Given the description of an element on the screen output the (x, y) to click on. 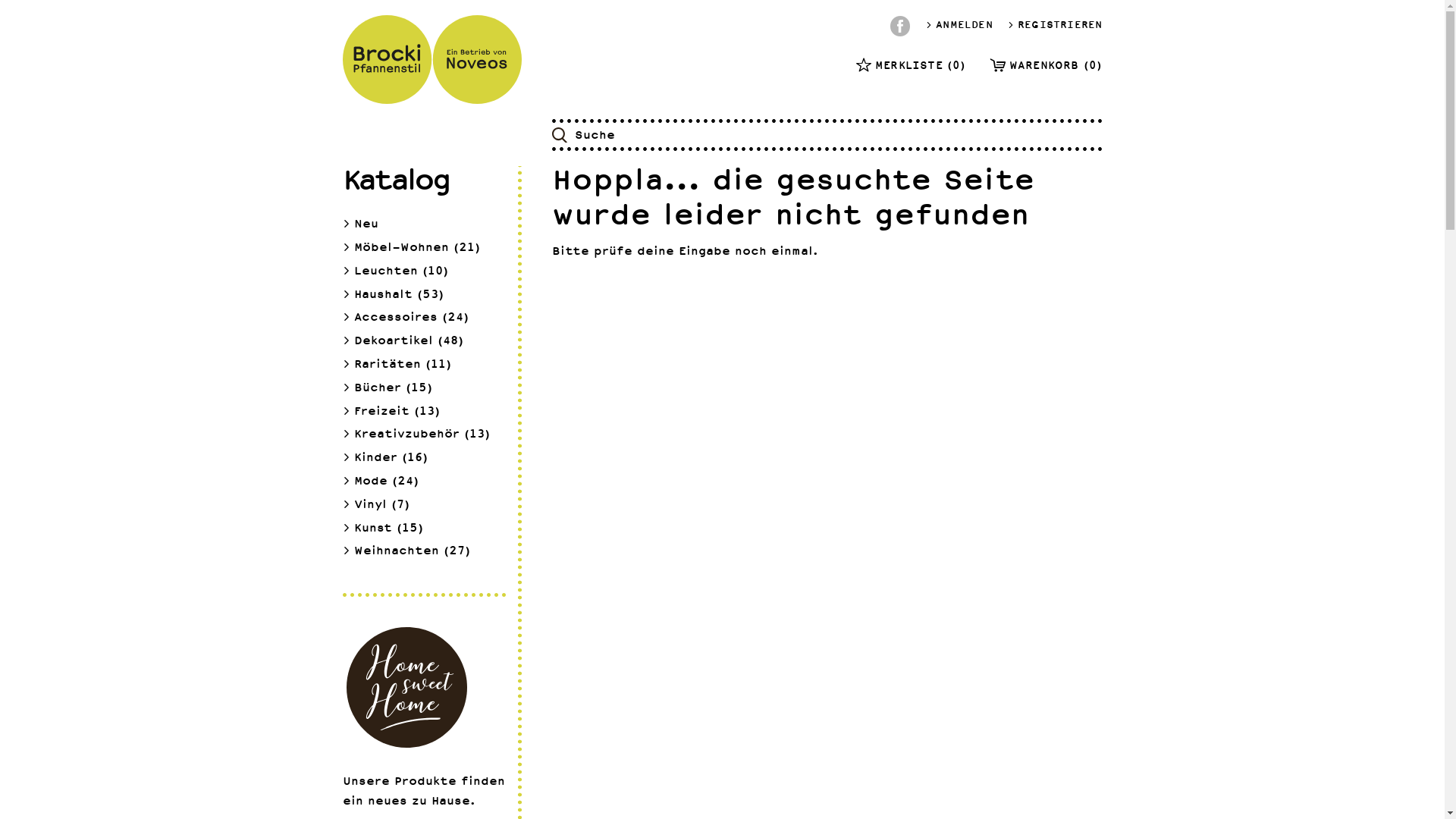
Haushalt (53) Element type: text (392, 294)
WARENKORB (0) Element type: text (1046, 65)
Mode (24) Element type: text (380, 480)
REGISTRIEREN Element type: text (1054, 24)
Weihnachten (27) Element type: text (406, 550)
Freizeit (13) Element type: text (390, 411)
Katalog Element type: text (395, 179)
Kinder (16) Element type: text (384, 457)
Neu Element type: text (360, 223)
Leuchten (10) Element type: text (395, 270)
Kunst (15) Element type: text (382, 527)
Vinyl (7) Element type: text (375, 504)
Accessoires (24) Element type: text (405, 317)
Dekoartikel (48) Element type: text (402, 340)
MERKLISTE (0) Element type: text (911, 65)
ANMELDEN Element type: text (958, 24)
